Given the description of an element on the screen output the (x, y) to click on. 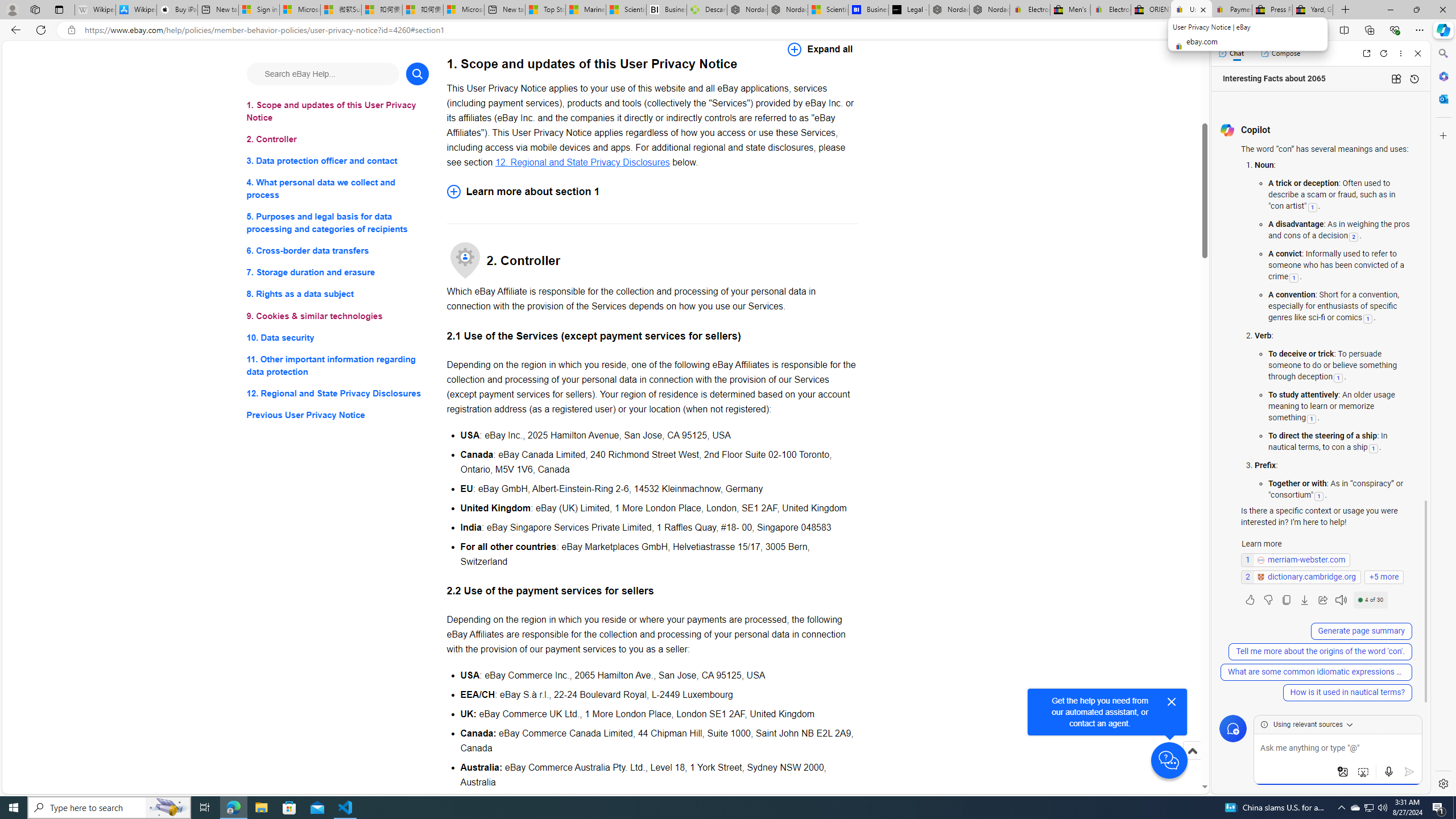
11. Other important information regarding data protection (337, 365)
Descarga Driver Updater (706, 9)
3. Data protection officer and contact (337, 160)
9. Cookies & similar technologies (337, 315)
Scroll to top (1191, 750)
8. Rights as a data subject (337, 293)
Nordace - Summer Adventures 2024 (949, 9)
